Given the description of an element on the screen output the (x, y) to click on. 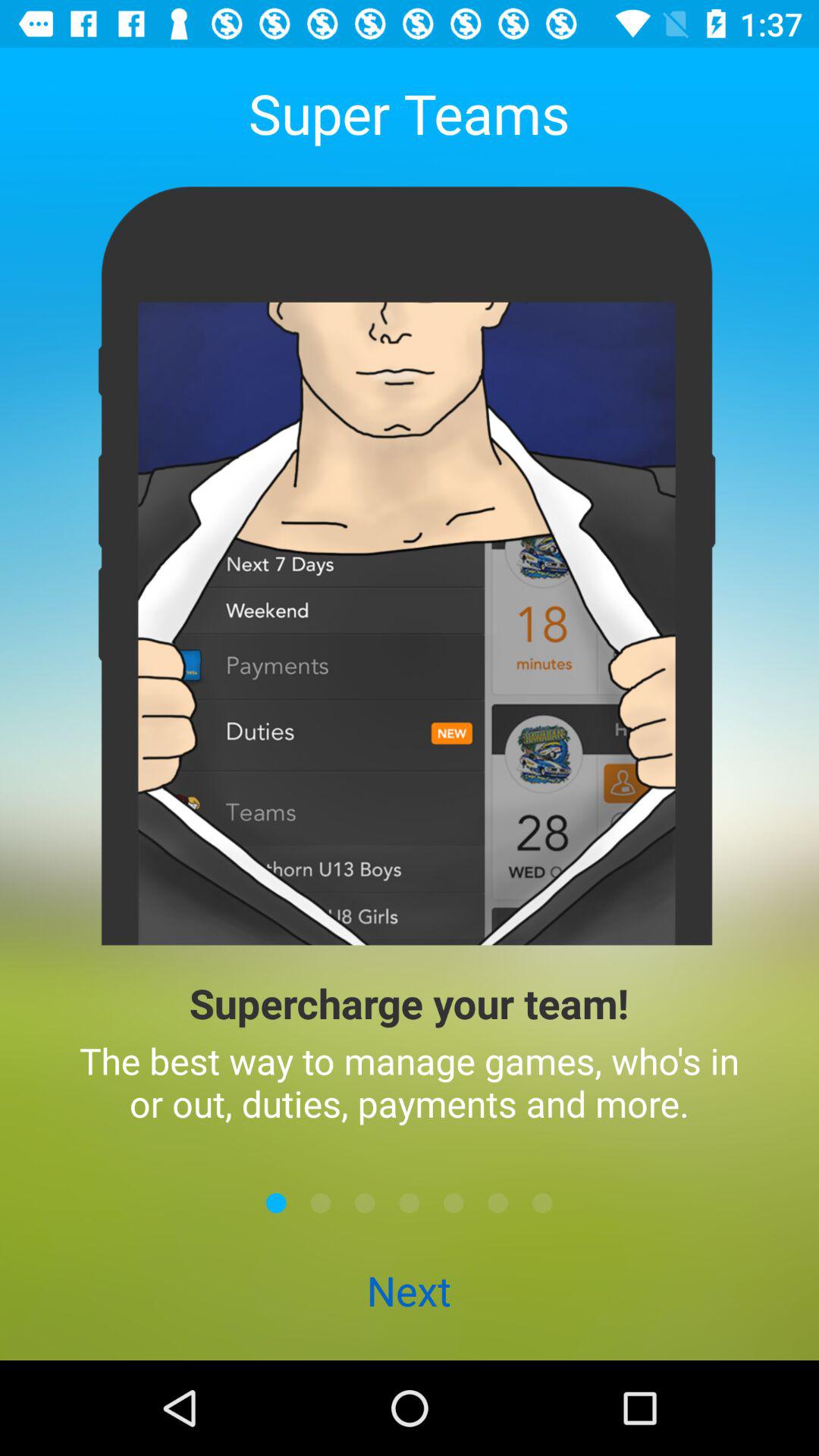
select icon above the next icon (320, 1203)
